Given the description of an element on the screen output the (x, y) to click on. 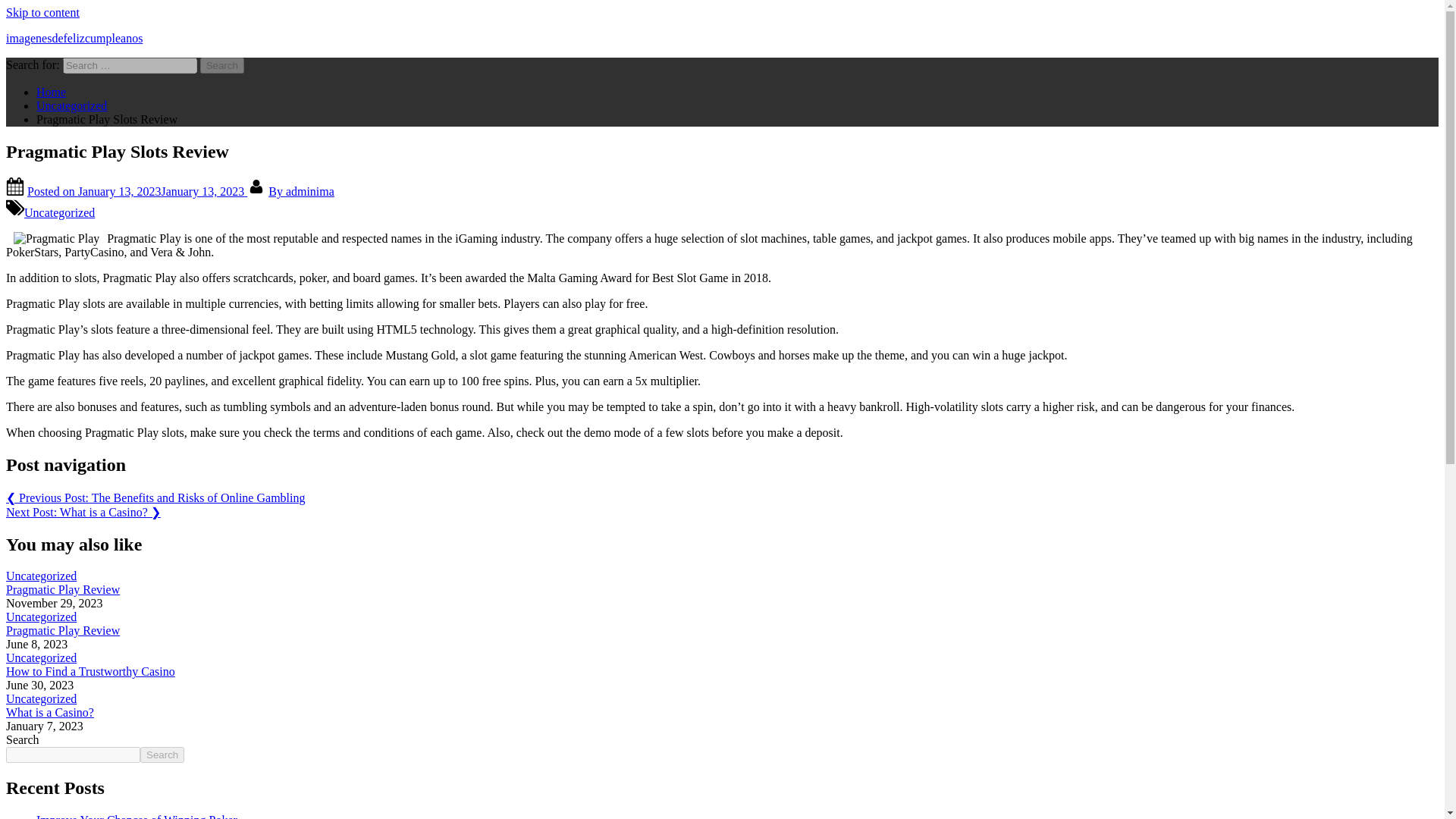
By adminima (300, 191)
Search (222, 65)
Pragmatic Play Review (62, 630)
Uncategorized (41, 616)
Uncategorized (59, 212)
Improve Your Chances of Winning Poker (136, 816)
What is a Casino? (49, 712)
Search (161, 754)
Uncategorized (41, 698)
Skip to content (42, 11)
Uncategorized (71, 105)
Posted on January 13, 2023January 13, 2023 (137, 191)
Uncategorized (41, 575)
Pragmatic Play Review (62, 589)
Search (222, 65)
